Given the description of an element on the screen output the (x, y) to click on. 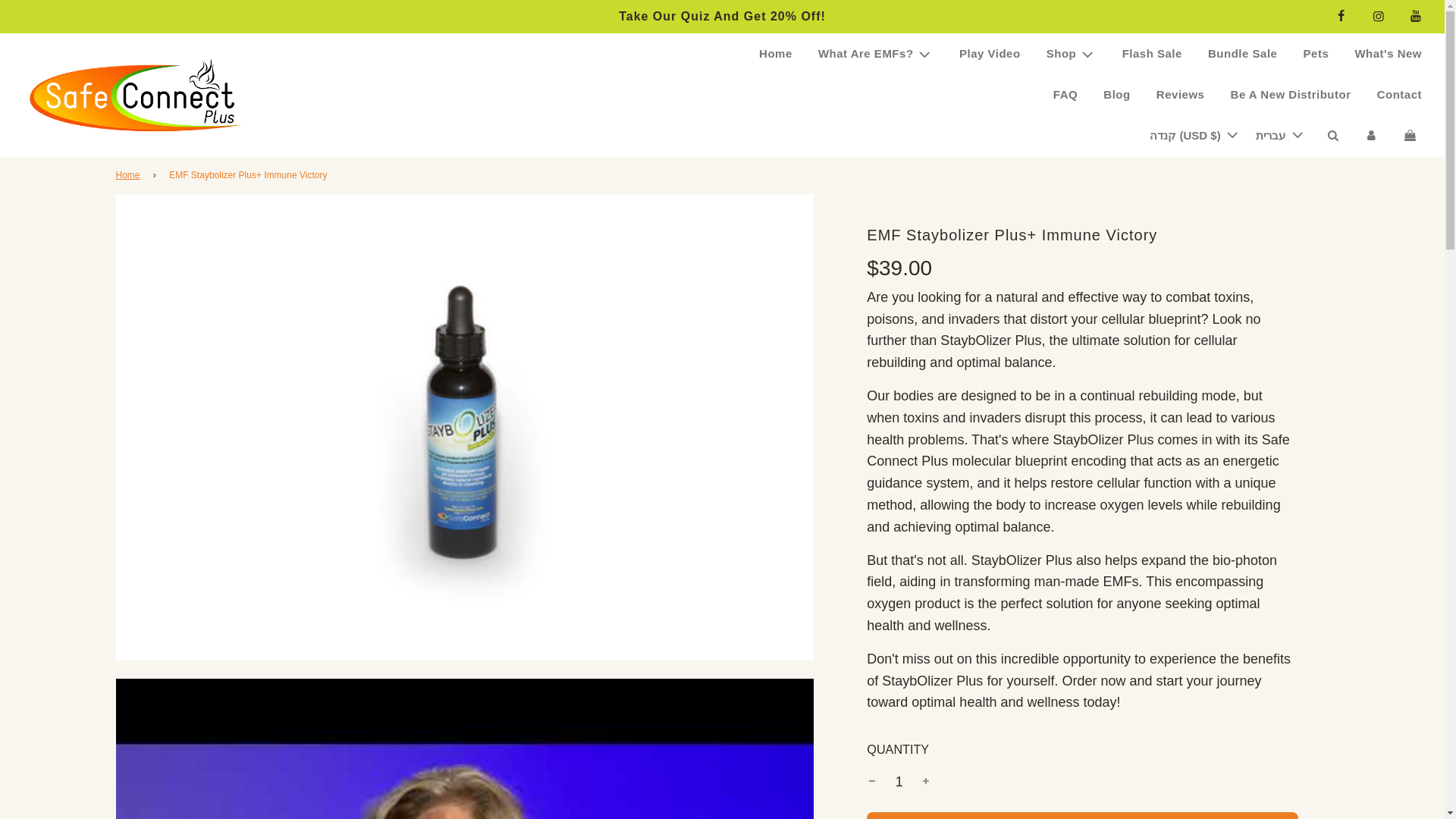
Log in (1371, 135)
What Are EMFs? (875, 53)
Home (775, 53)
1 (898, 781)
Back to the frontpage (129, 175)
